Given the description of an element on the screen output the (x, y) to click on. 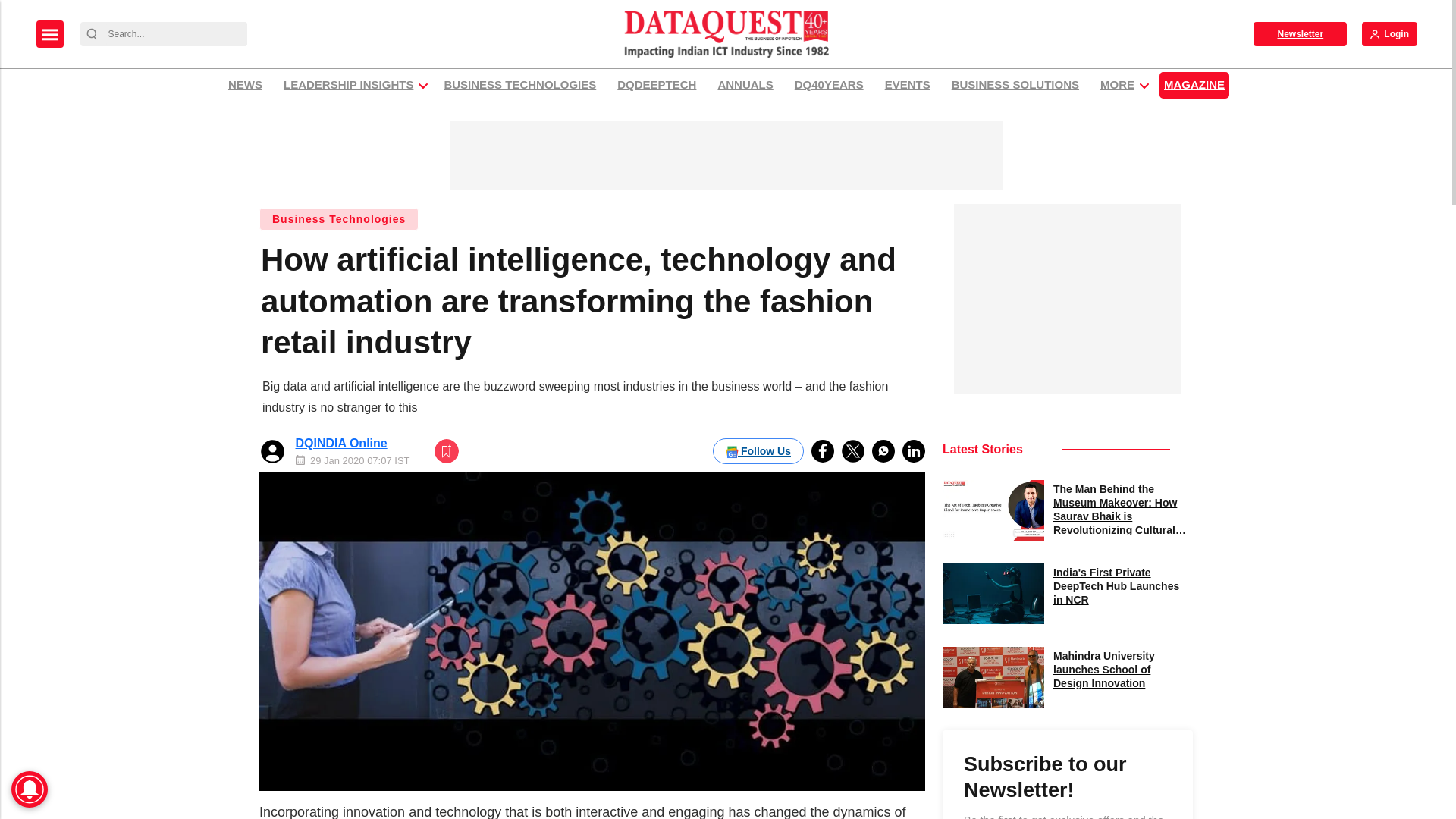
LEADERSHIP INSIGHTS (348, 84)
Business Technologies (339, 219)
DQDEEPTECH (656, 84)
ANNUALS (744, 84)
MORE (1117, 84)
EVENTS (907, 84)
BUSINESS SOLUTIONS (1015, 84)
NEWS (244, 84)
DQ40YEARS (829, 84)
DQINDIA Online (341, 442)
BUSINESS TECHNOLOGIES (519, 84)
Login (1388, 33)
Newsletter (1299, 33)
MAGAZINE (1193, 85)
